Given the description of an element on the screen output the (x, y) to click on. 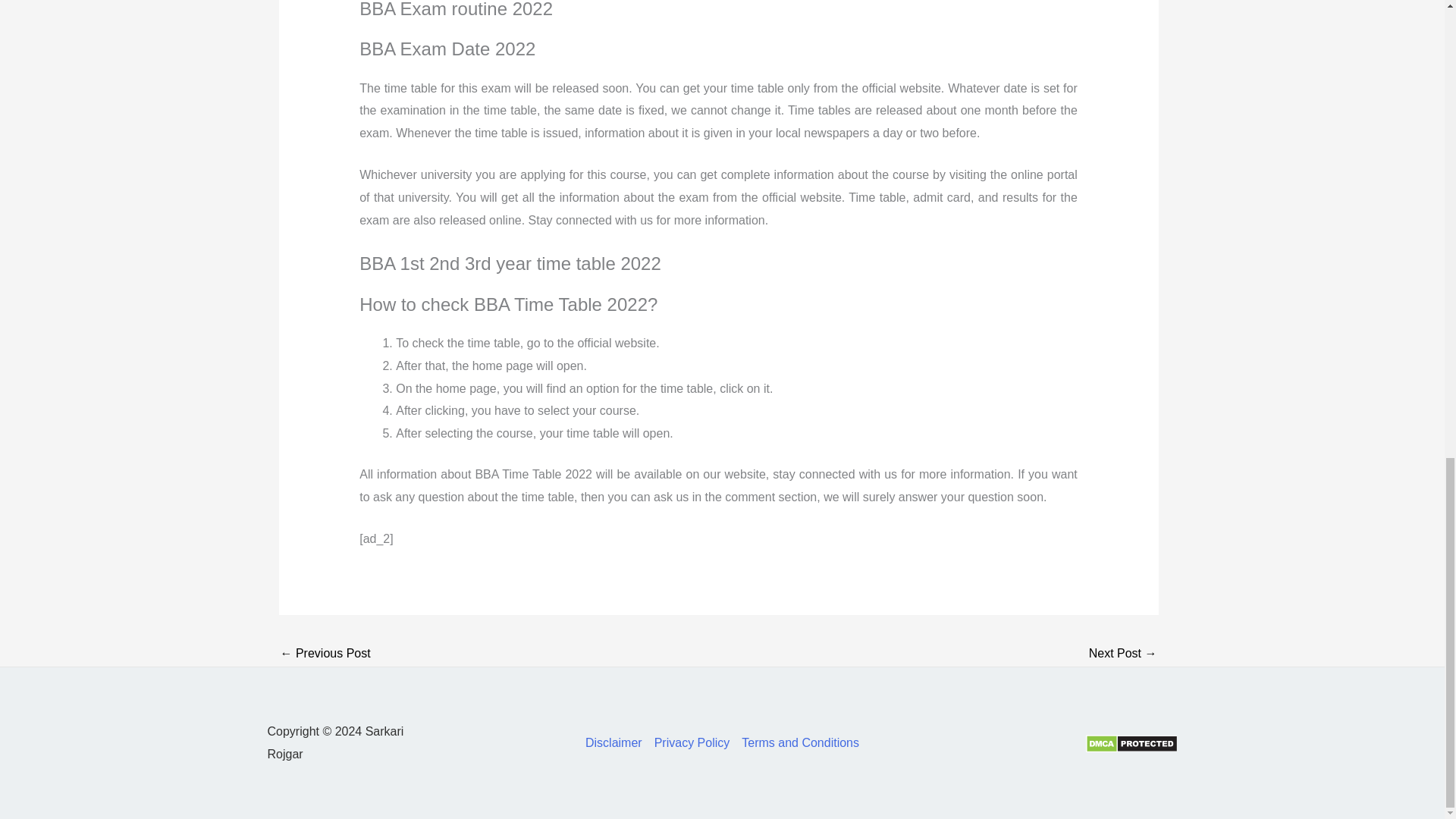
Privacy Policy (691, 743)
CBSE Class 10 Admit card 2023 Download 10th Hall ticket (1123, 654)
Disclaimer (616, 743)
Terms and Conditions (797, 743)
DMCA.com Protection Status (1131, 742)
